Given the description of an element on the screen output the (x, y) to click on. 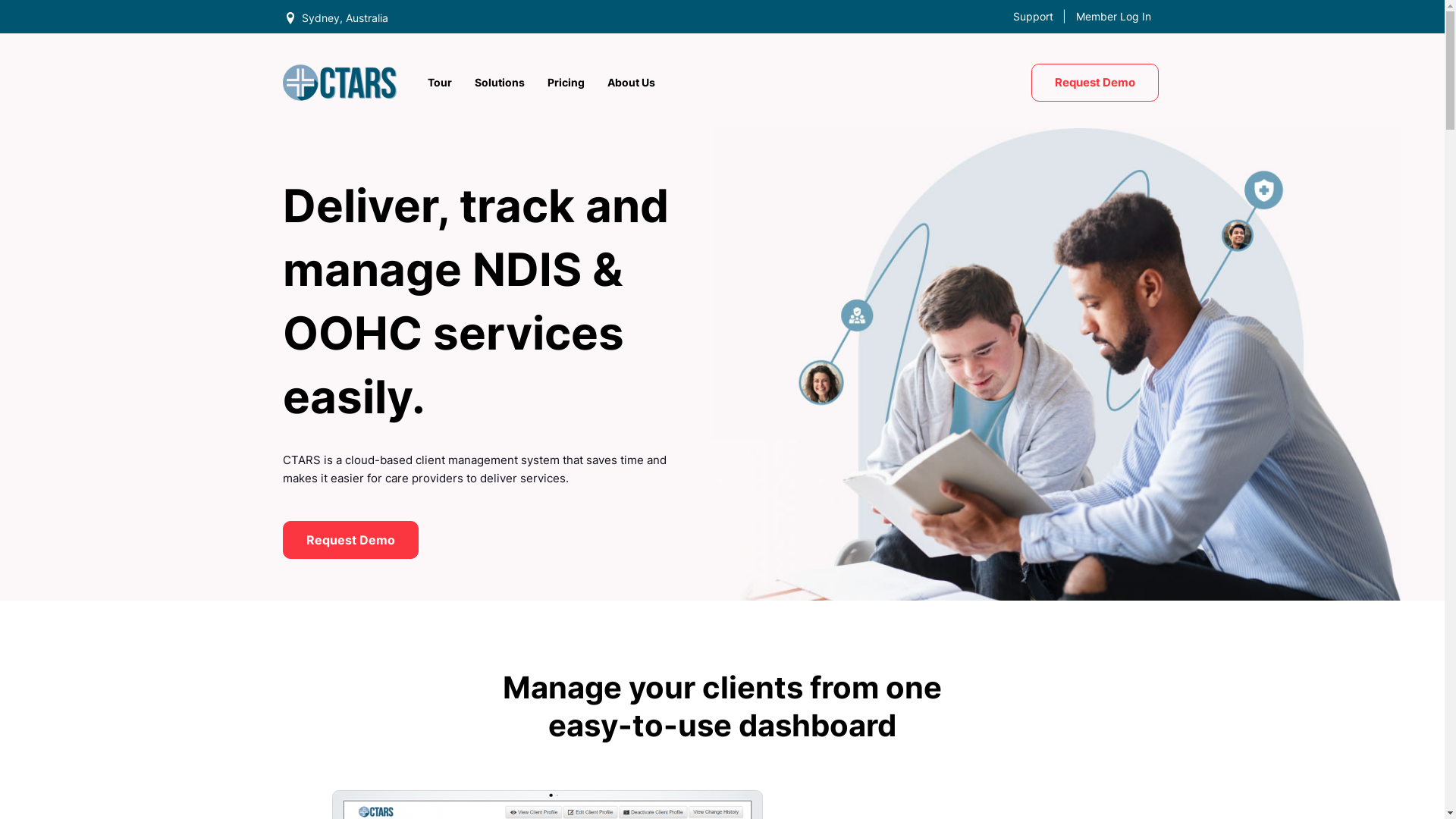
ctars-logo-dark 1 Element type: hover (338, 82)
Tour Element type: text (439, 82)
Request Demo Element type: text (1094, 82)
Pricing Element type: text (565, 82)
Solutions Element type: text (499, 82)
Request Demo Element type: text (349, 539)
About Us Element type: text (630, 82)
